Given the description of an element on the screen output the (x, y) to click on. 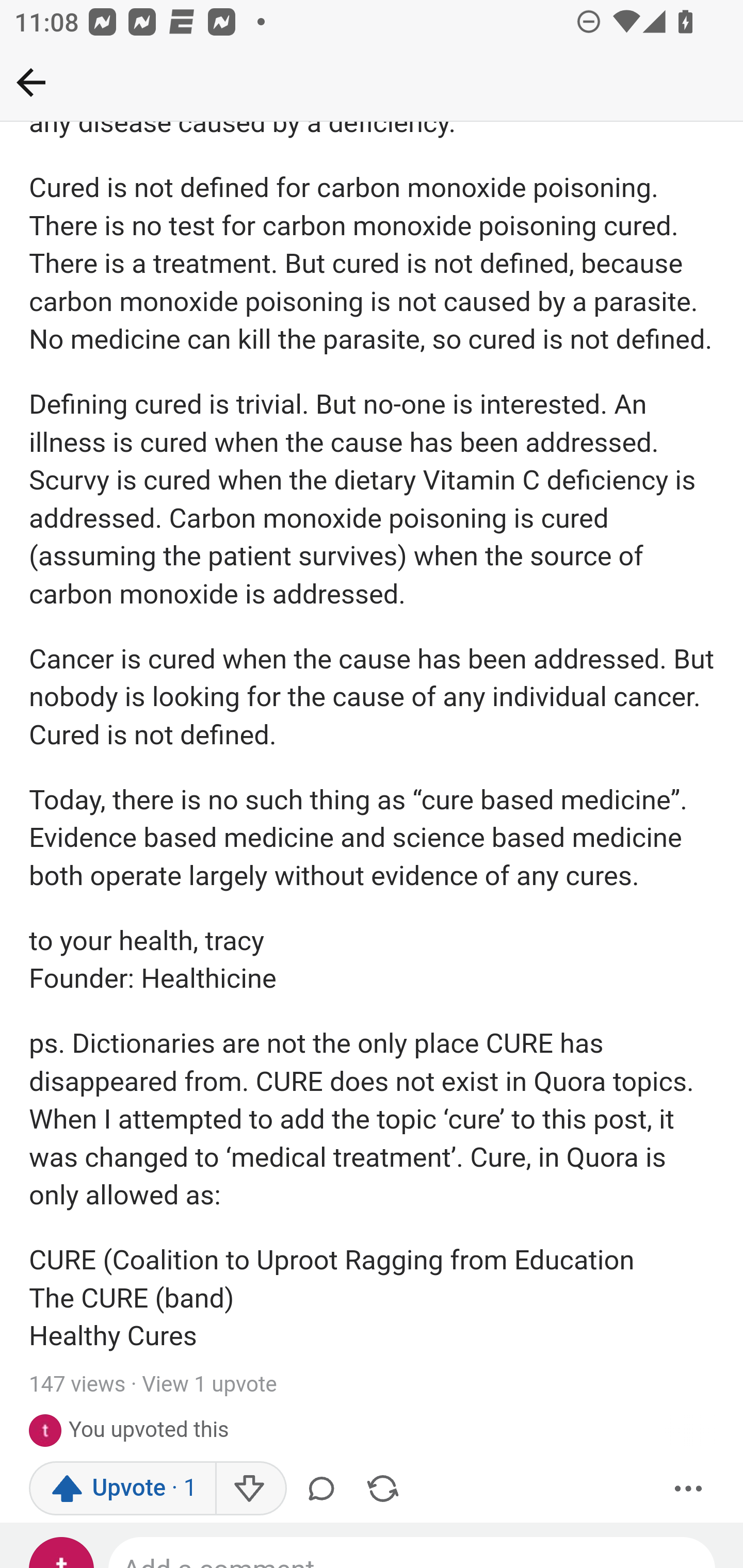
Back (30, 82)
View 1 upvote (209, 1384)
Profile photo for Test Appium (48, 1431)
Upvote (122, 1488)
Downvote (249, 1488)
Comment (324, 1488)
Share (382, 1488)
More (688, 1488)
